Given the description of an element on the screen output the (x, y) to click on. 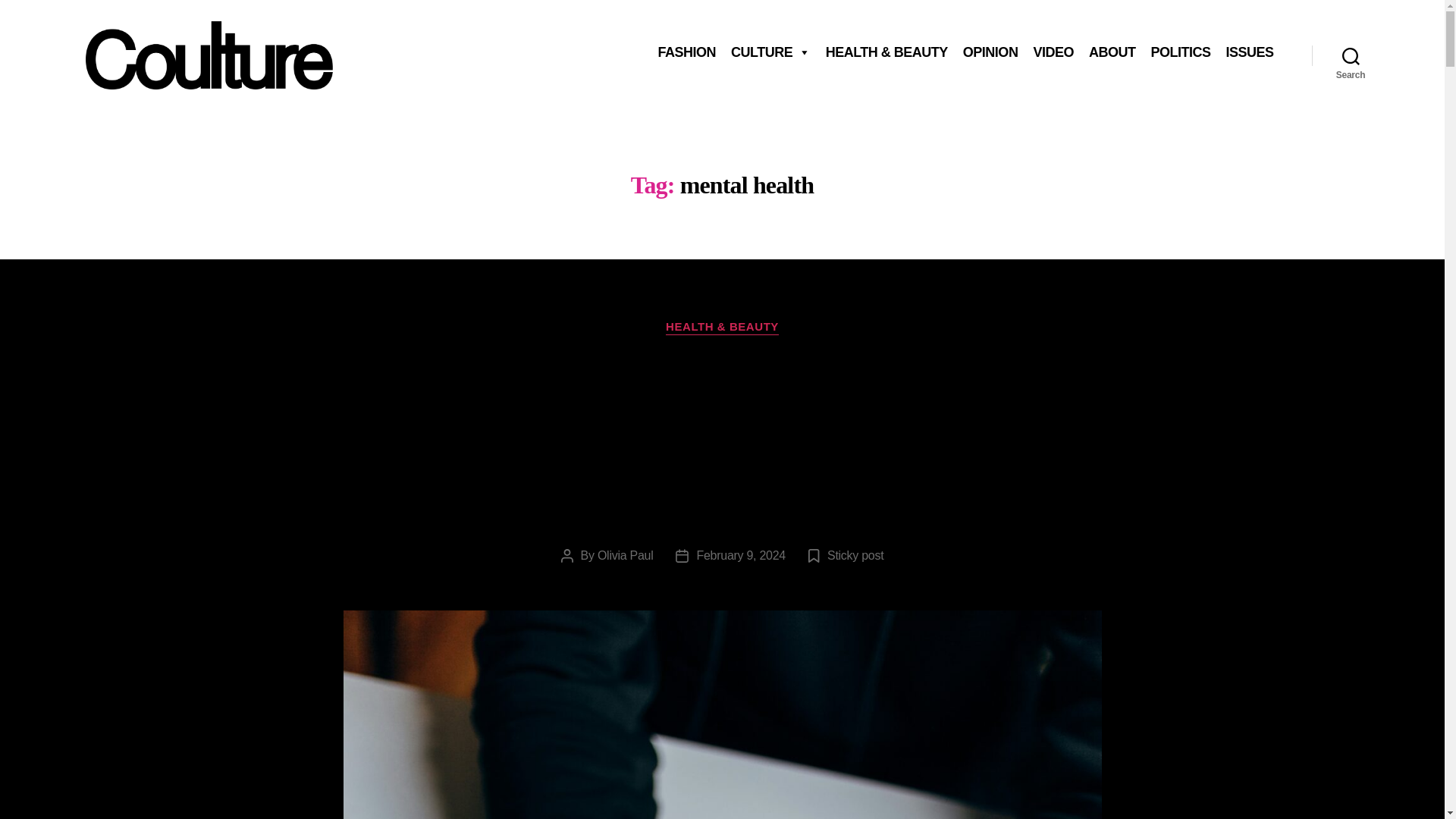
POLITICS (1179, 51)
Search (1350, 55)
Olivia Paul (624, 554)
CULTURE (770, 51)
February 9, 2024 (740, 554)
VIDEO (1053, 51)
OPINION (990, 51)
ABOUT (1111, 51)
FASHION (686, 51)
ISSUES (1249, 51)
